Given the description of an element on the screen output the (x, y) to click on. 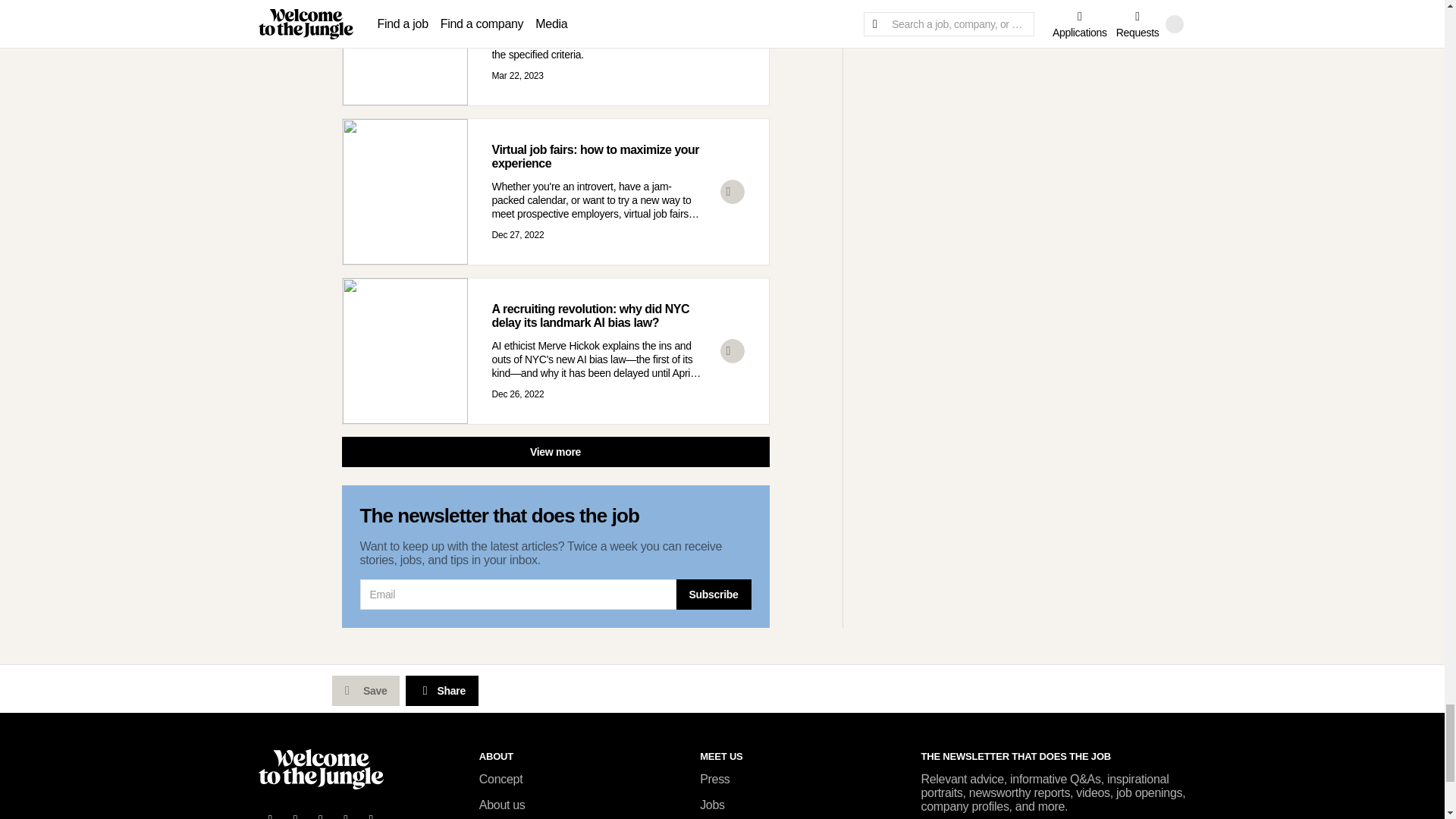
YouTube (345, 813)
Instagram (371, 813)
LinkedIn (320, 813)
Twitter (295, 813)
Welcome to the Jungle (319, 769)
Facebook (269, 813)
